Given the description of an element on the screen output the (x, y) to click on. 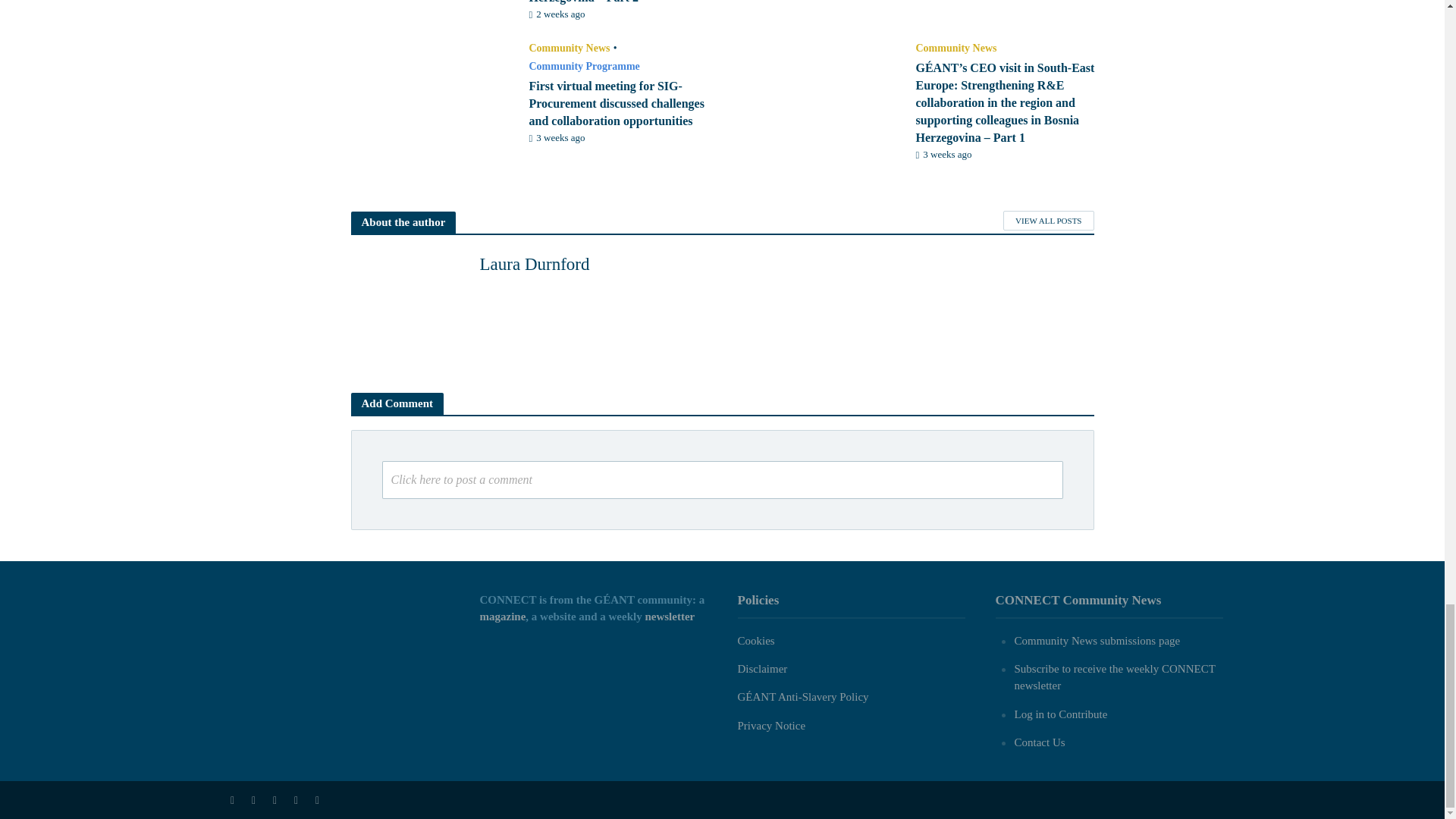
Disclaimer (761, 668)
Cookies (755, 640)
Privacy Notice (770, 725)
